Given the description of an element on the screen output the (x, y) to click on. 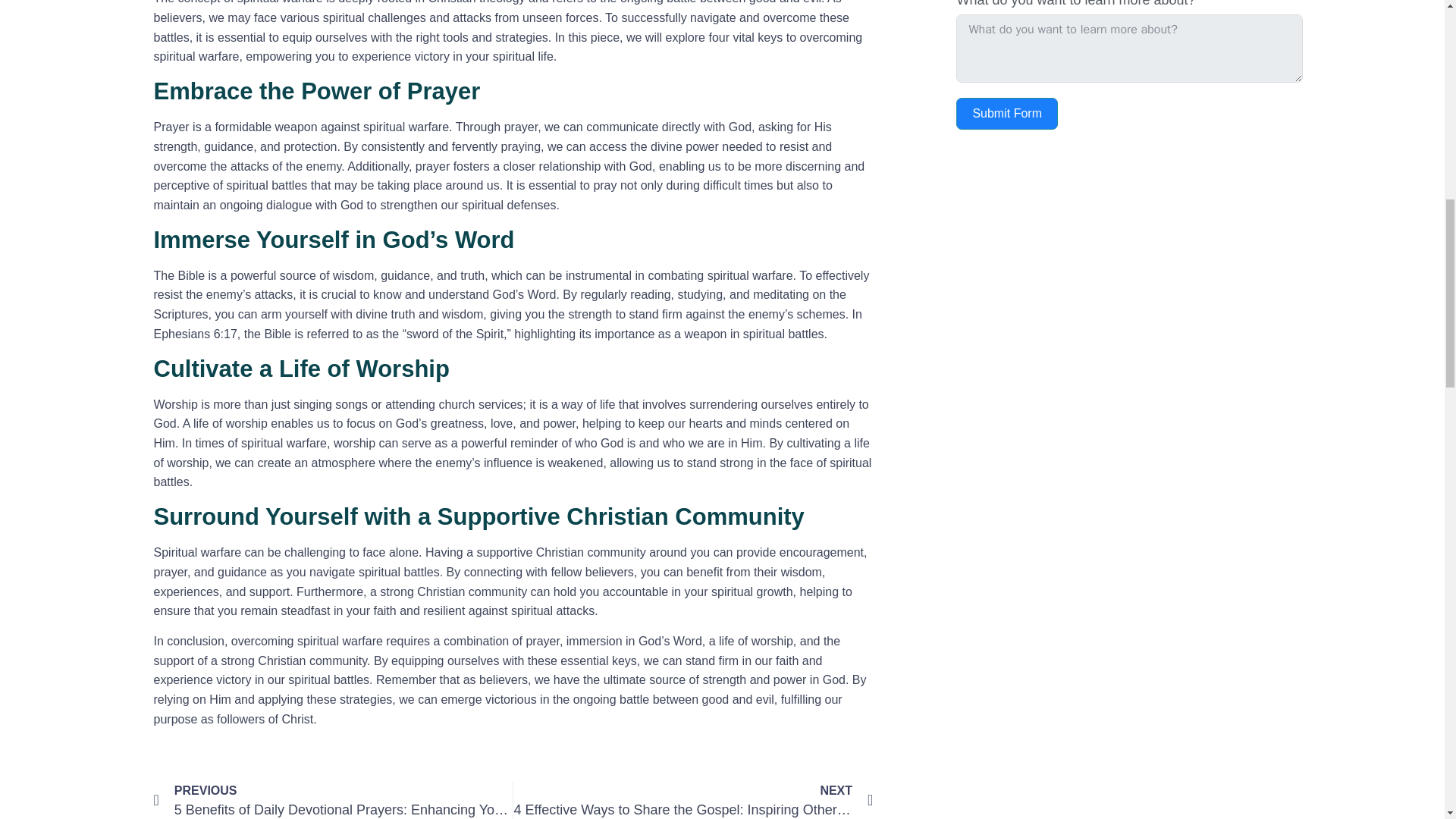
Submit Form (1007, 113)
